Given the description of an element on the screen output the (x, y) to click on. 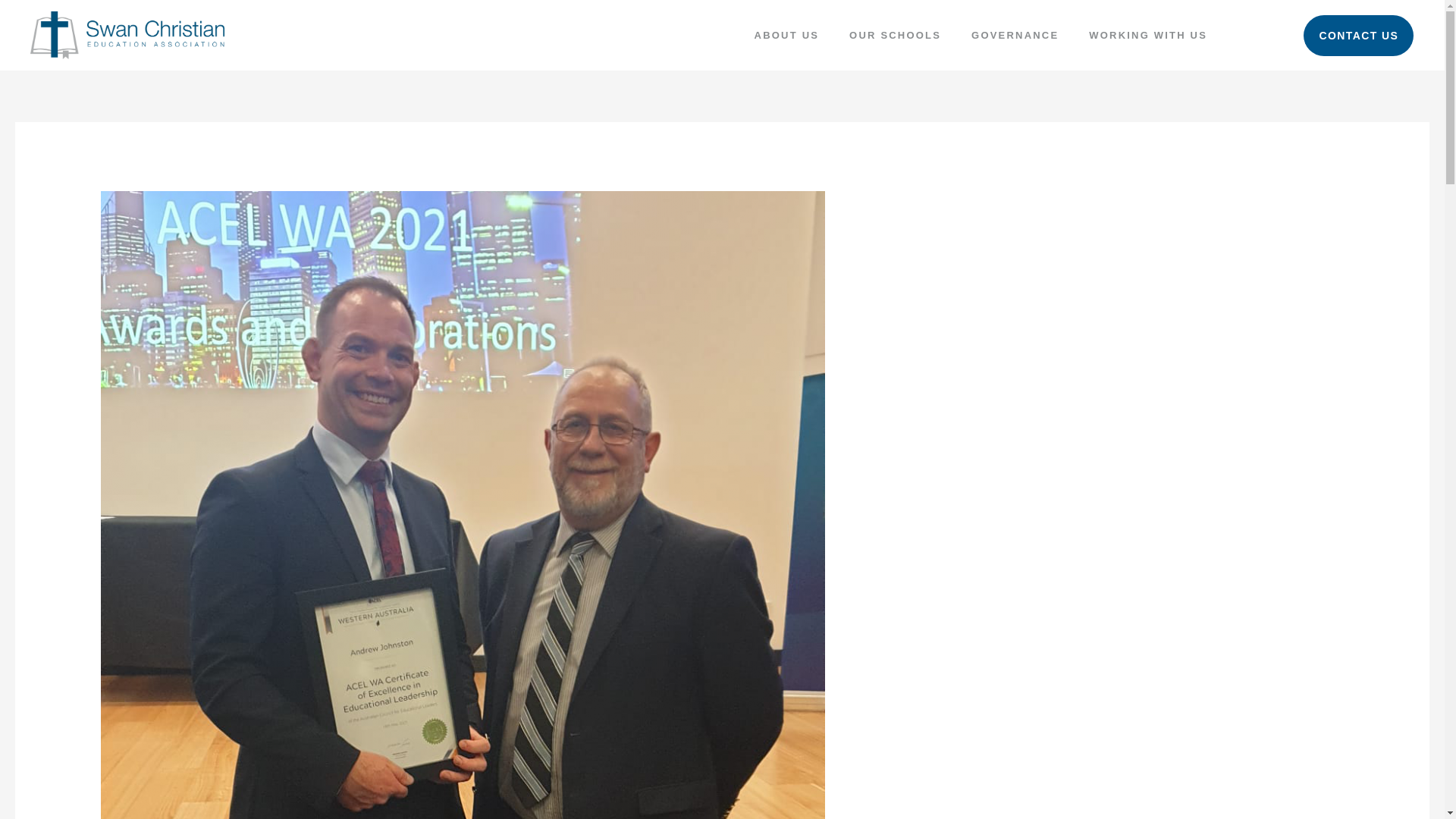
OUR SCHOOLS (895, 35)
WORKING WITH US (1148, 35)
GOVERNANCE (1015, 35)
ABOUT US (786, 35)
